Given the description of an element on the screen output the (x, y) to click on. 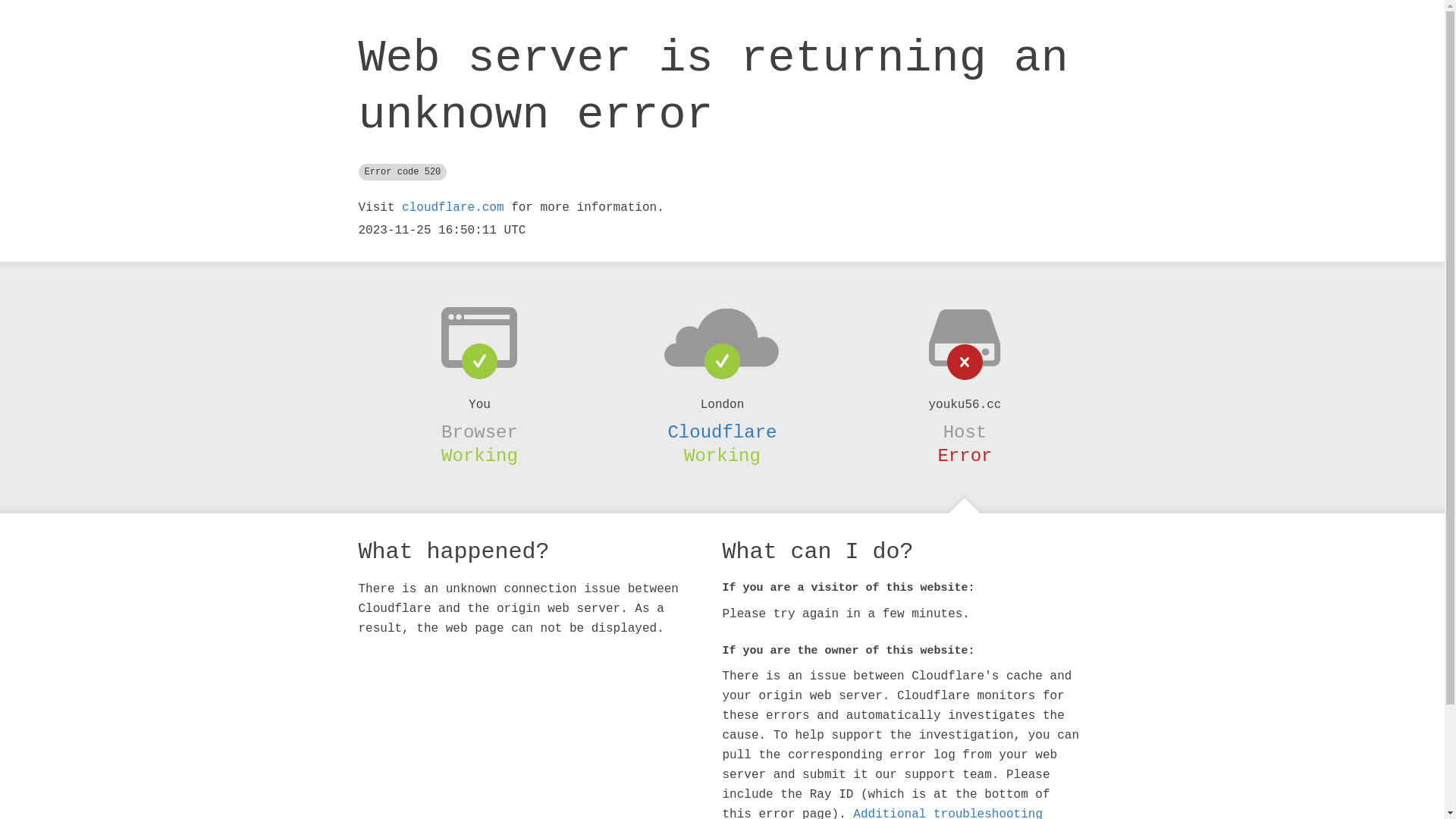
cloudflare.com Element type: text (452, 207)
Cloudflare Element type: text (721, 432)
